Given the description of an element on the screen output the (x, y) to click on. 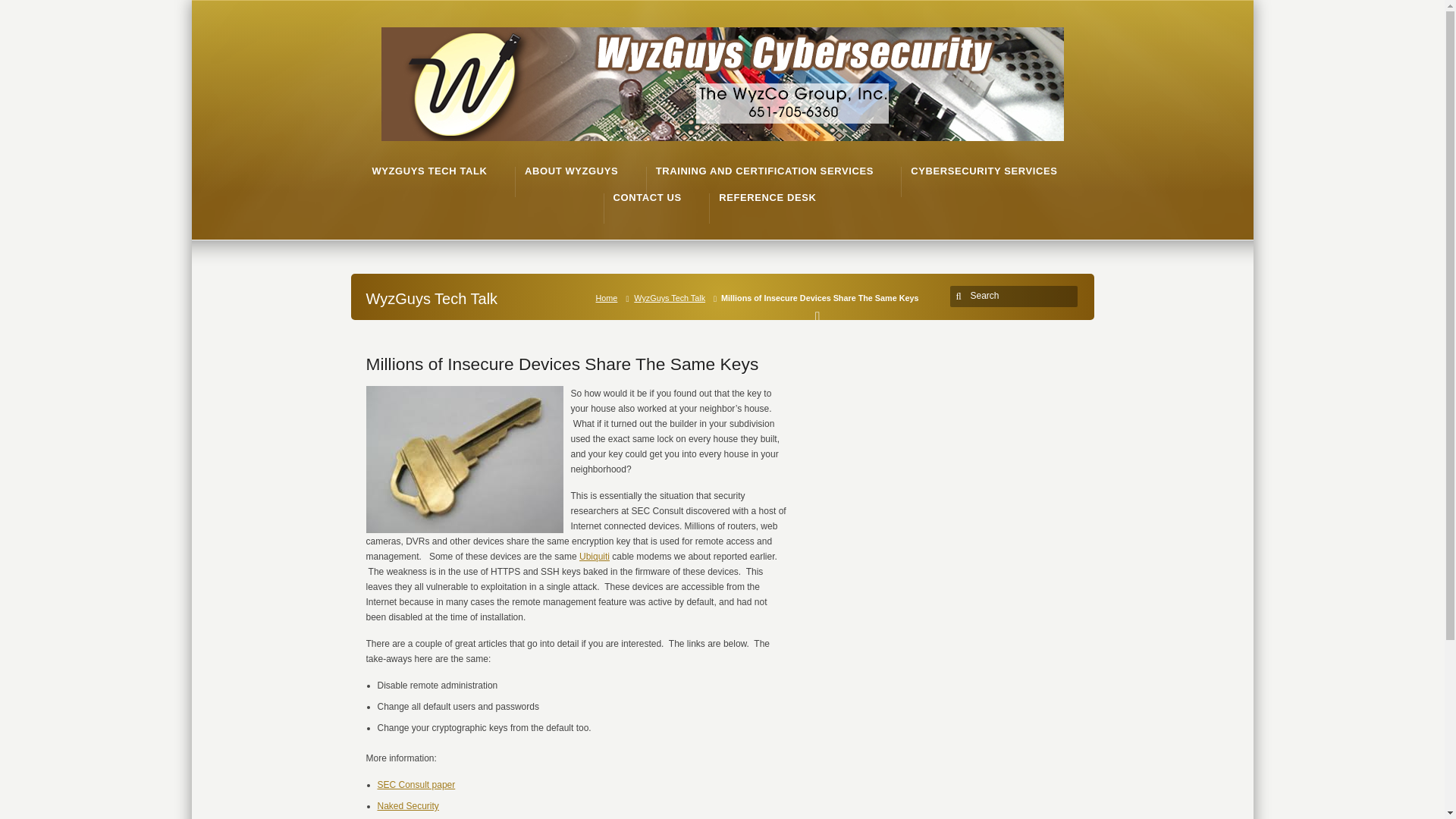
SEC Consult paper (416, 784)
WYZGUYS TECH TALK (428, 171)
Home (609, 297)
CONTACT US (646, 197)
Naked Security (408, 805)
WyzGuys Tech Talk (672, 297)
Millions of Insecure Devices Share The Same Keys (561, 363)
CYBERSECURITY SERVICES (984, 171)
TRAINING AND CERTIFICATION SERVICES (764, 171)
REFERENCE DESK (767, 197)
